Given the description of an element on the screen output the (x, y) to click on. 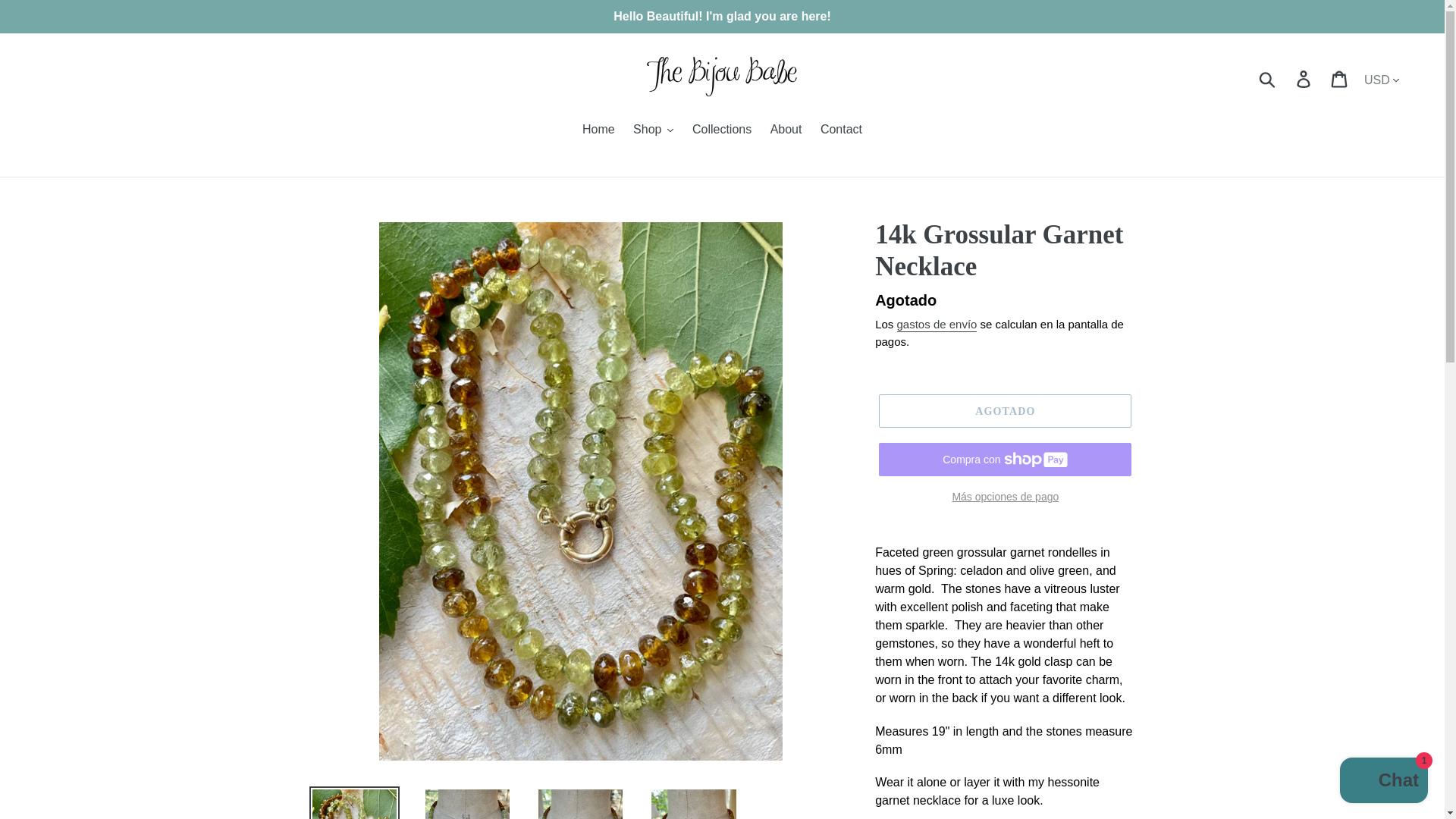
Chat de la tienda online Shopify (1383, 781)
About (785, 130)
Carrito (1340, 78)
Home (599, 130)
Ingresar (1304, 78)
Contact (840, 130)
Buscar (1268, 78)
Collections (721, 130)
